Given the description of an element on the screen output the (x, y) to click on. 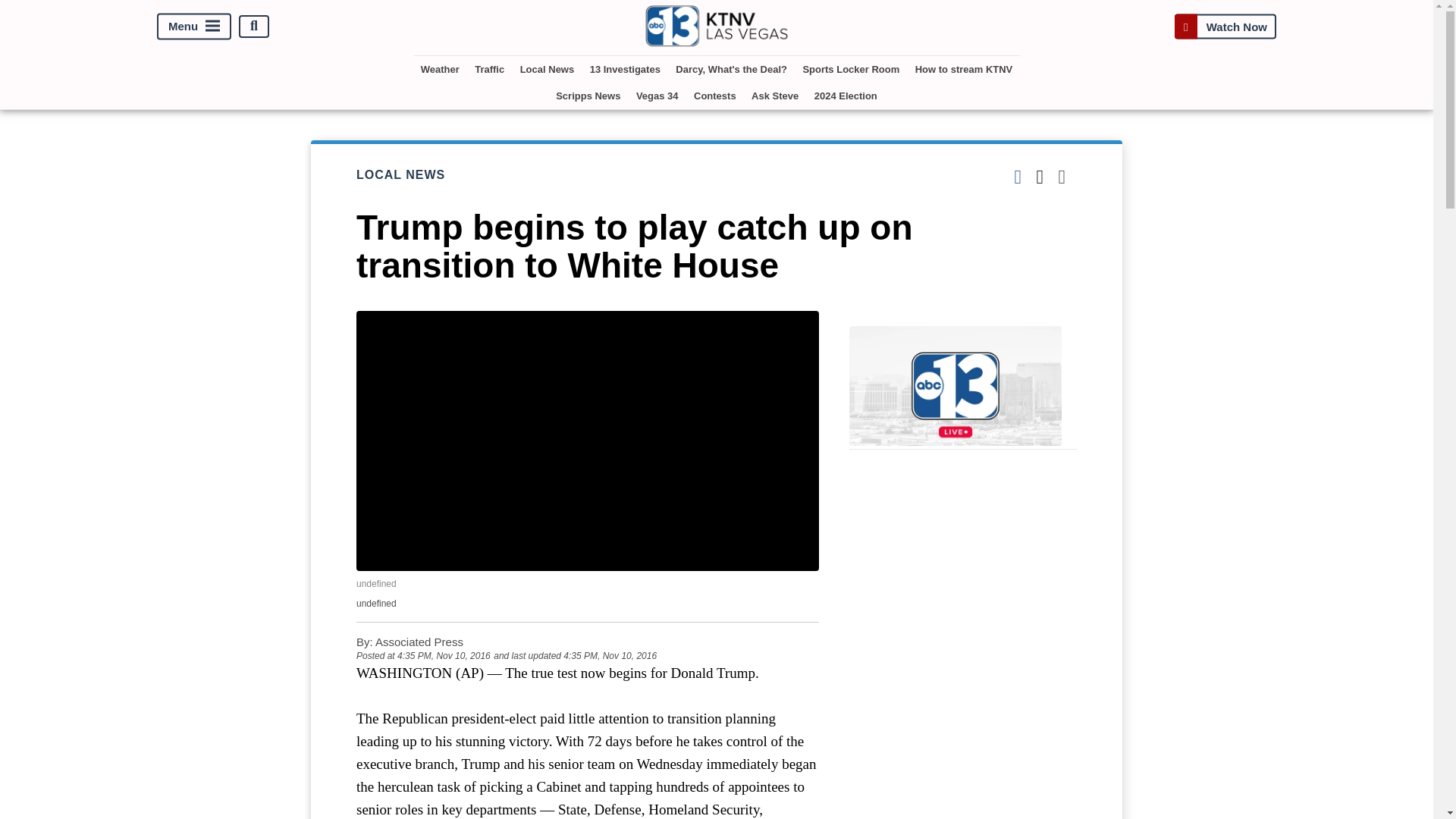
Menu (194, 26)
Watch Now (1224, 25)
